Given the description of an element on the screen output the (x, y) to click on. 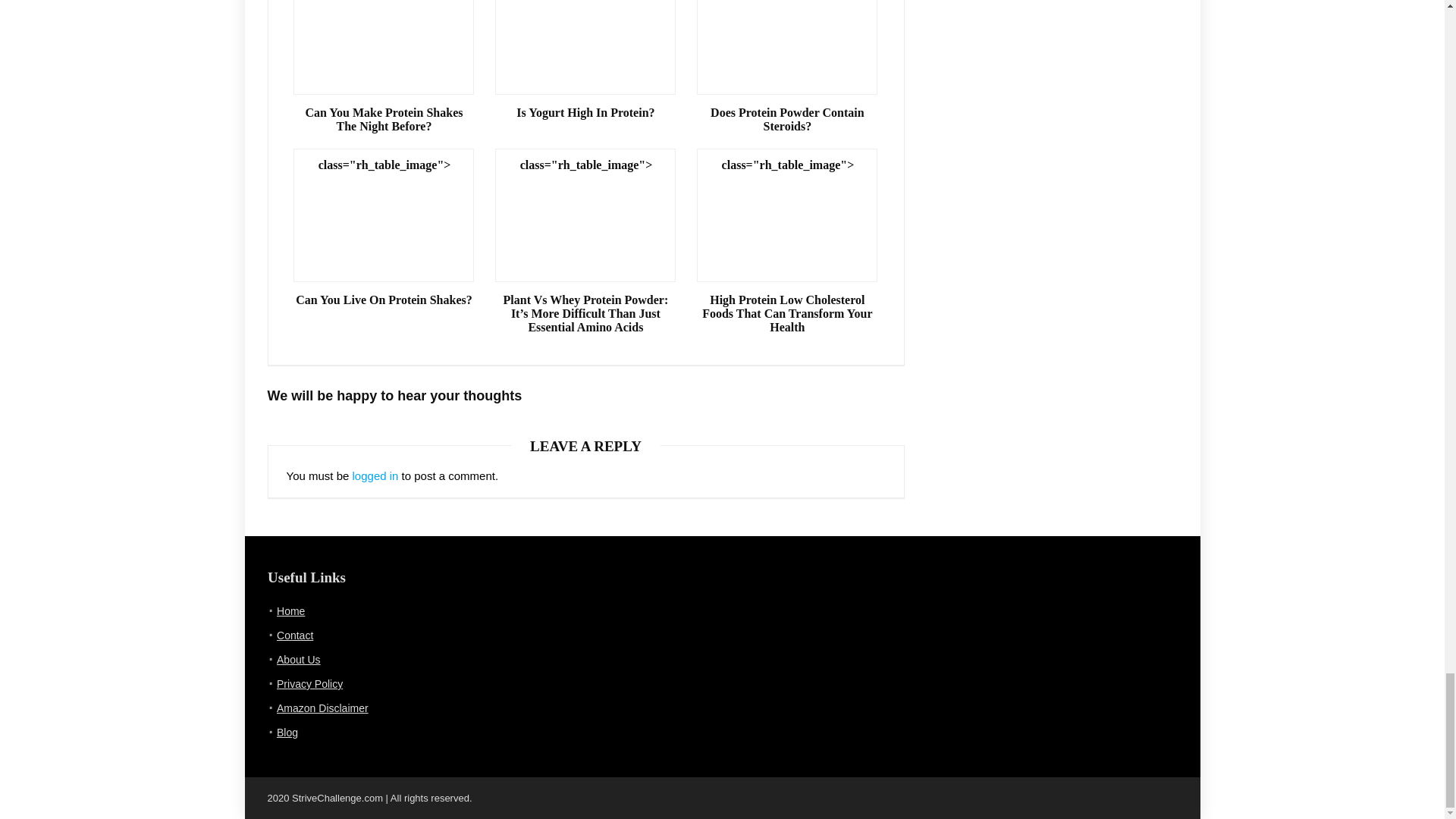
Does Protein Powder Contain Steroids? (787, 119)
Can You Live On Protein Shakes? (384, 300)
Is Yogurt High In Protein? (585, 112)
Can You Make Protein Shakes The Night Before? (384, 119)
